Given the description of an element on the screen output the (x, y) to click on. 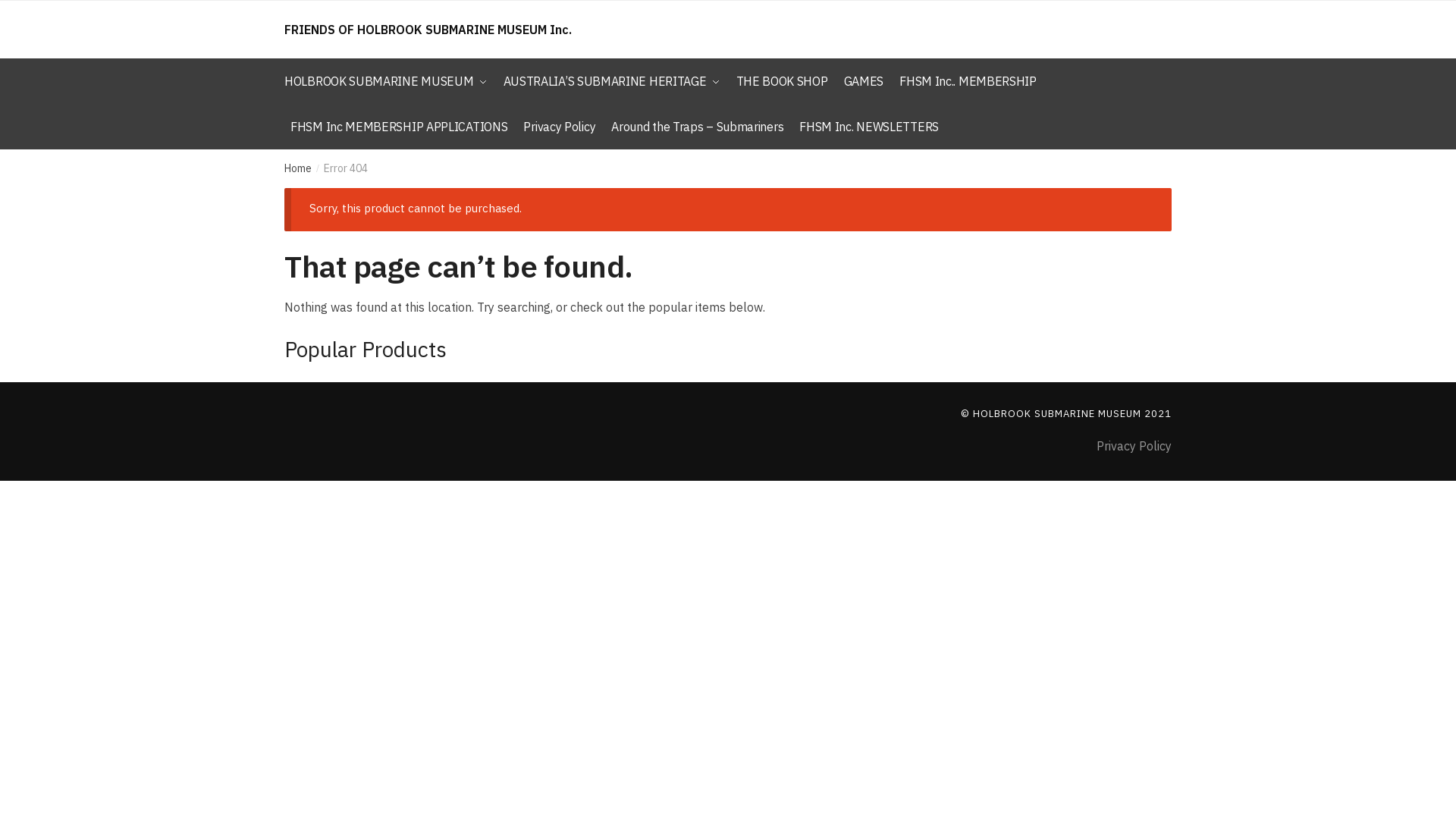
HOLBROOK SUBMARINE MUSEUM Element type: text (388, 80)
Privacy Policy Element type: text (1133, 445)
Home Element type: text (297, 168)
FHSM Inc.. MEMBERSHIP Element type: text (967, 80)
THE BOOK SHOP Element type: text (781, 80)
FHSM Inc. NEWSLETTERS Element type: text (868, 126)
Privacy Policy Element type: text (559, 126)
FRIENDS OF HOLBROOK SUBMARINE MUSEUM Inc. Element type: text (427, 29)
GAMES Element type: text (863, 80)
FHSM Inc MEMBERSHIP APPLICATIONS Element type: text (398, 126)
